Given the description of an element on the screen output the (x, y) to click on. 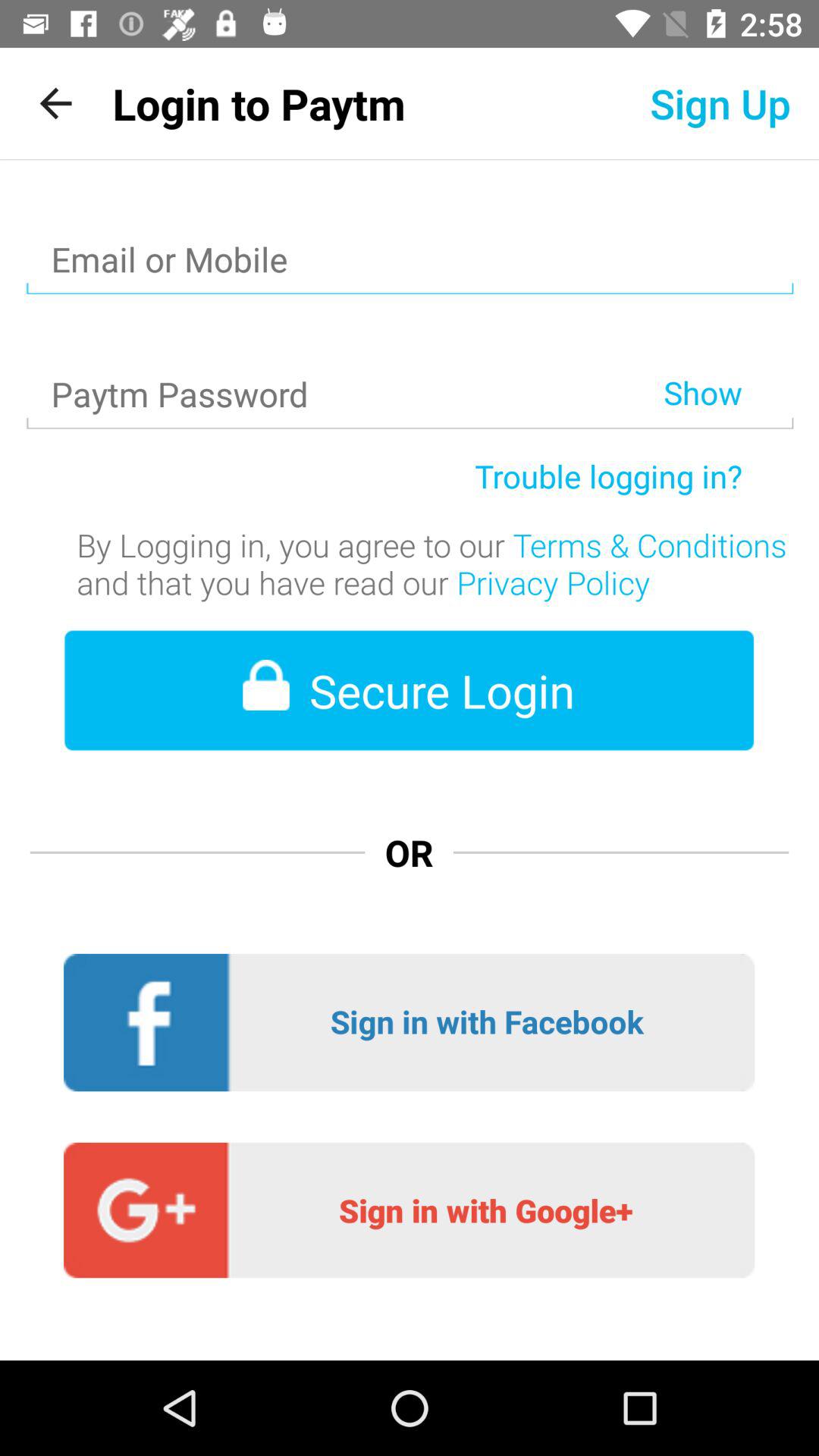
select icon to the left of the sign up (258, 103)
